Given the description of an element on the screen output the (x, y) to click on. 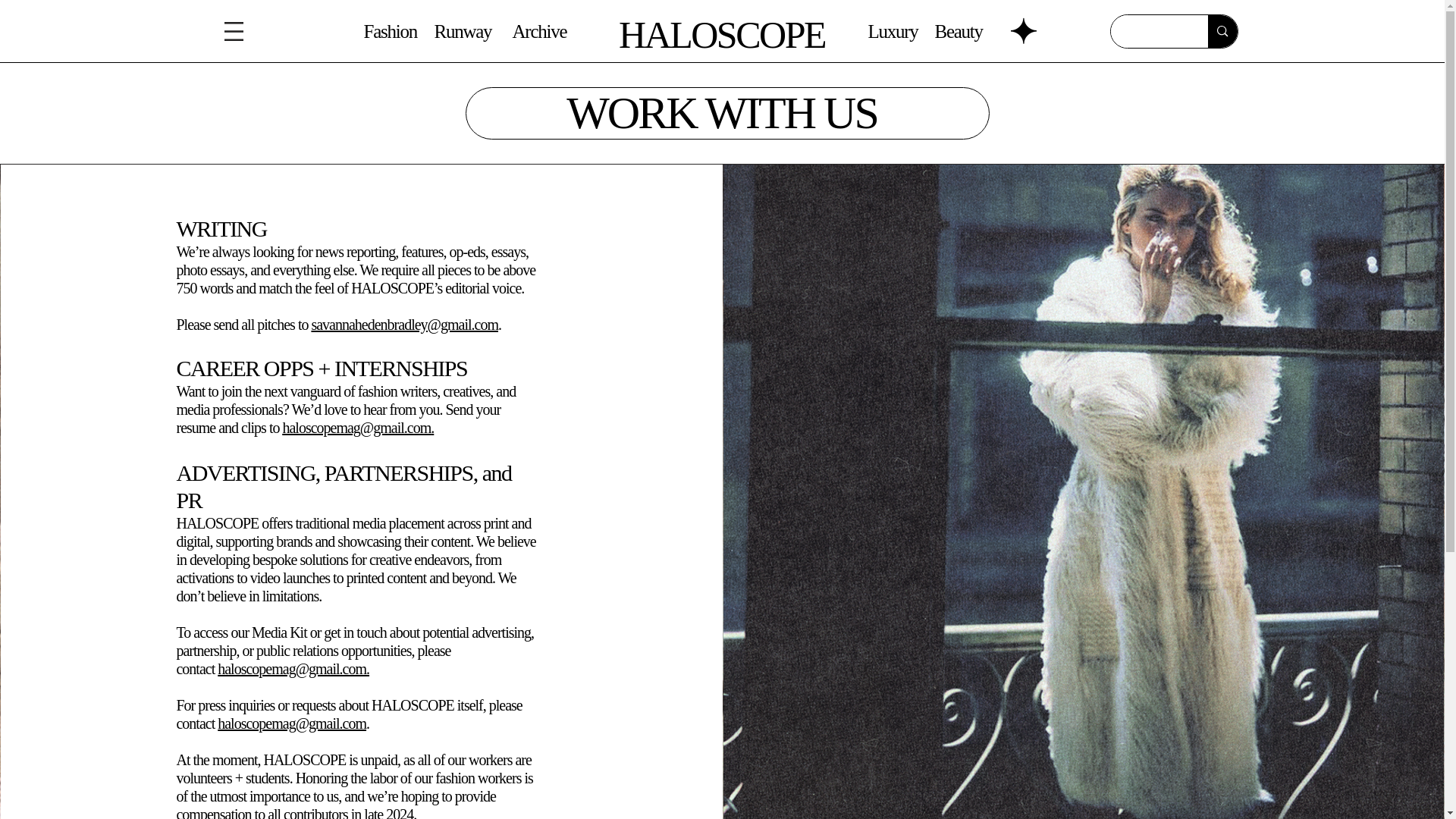
Runway (462, 31)
HALOSCOPE (721, 34)
Beauty (957, 31)
Archive (539, 31)
Luxury (892, 31)
Fashion (390, 31)
